Given the description of an element on the screen output the (x, y) to click on. 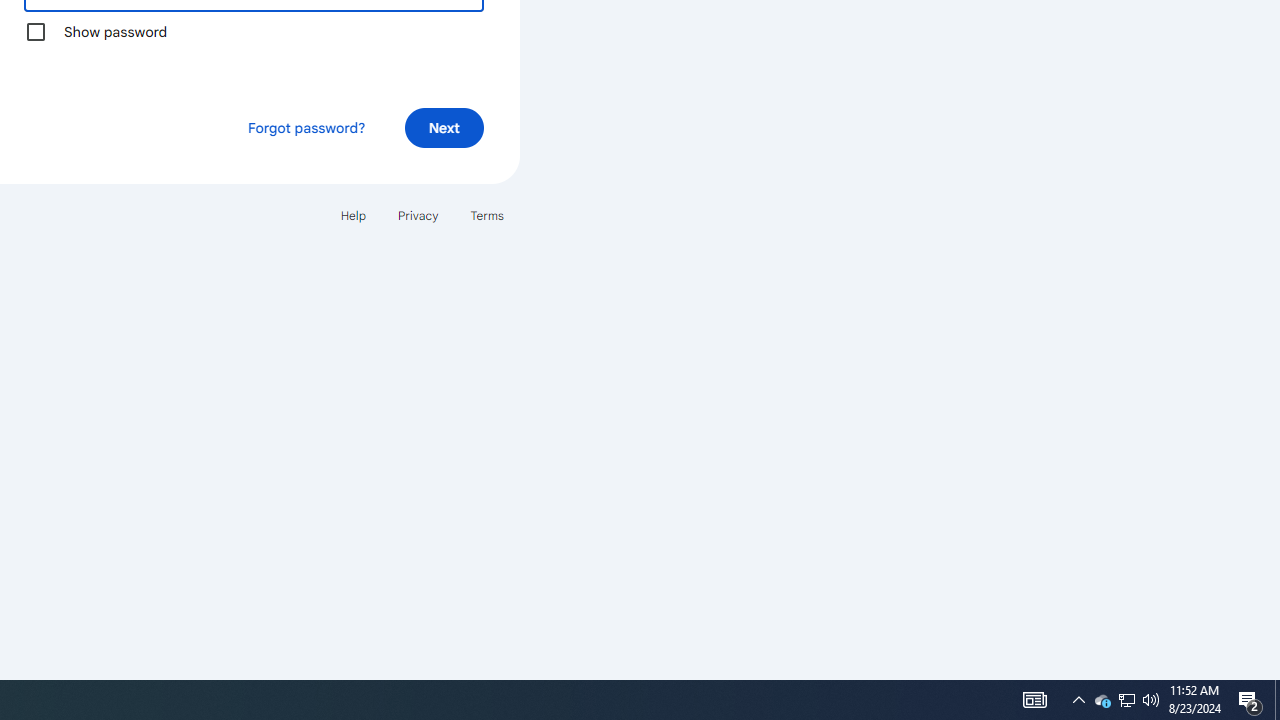
Privacy (417, 214)
Next (443, 127)
Help (352, 214)
Terms (486, 214)
Show password (35, 31)
Forgot password? (305, 127)
